Given the description of an element on the screen output the (x, y) to click on. 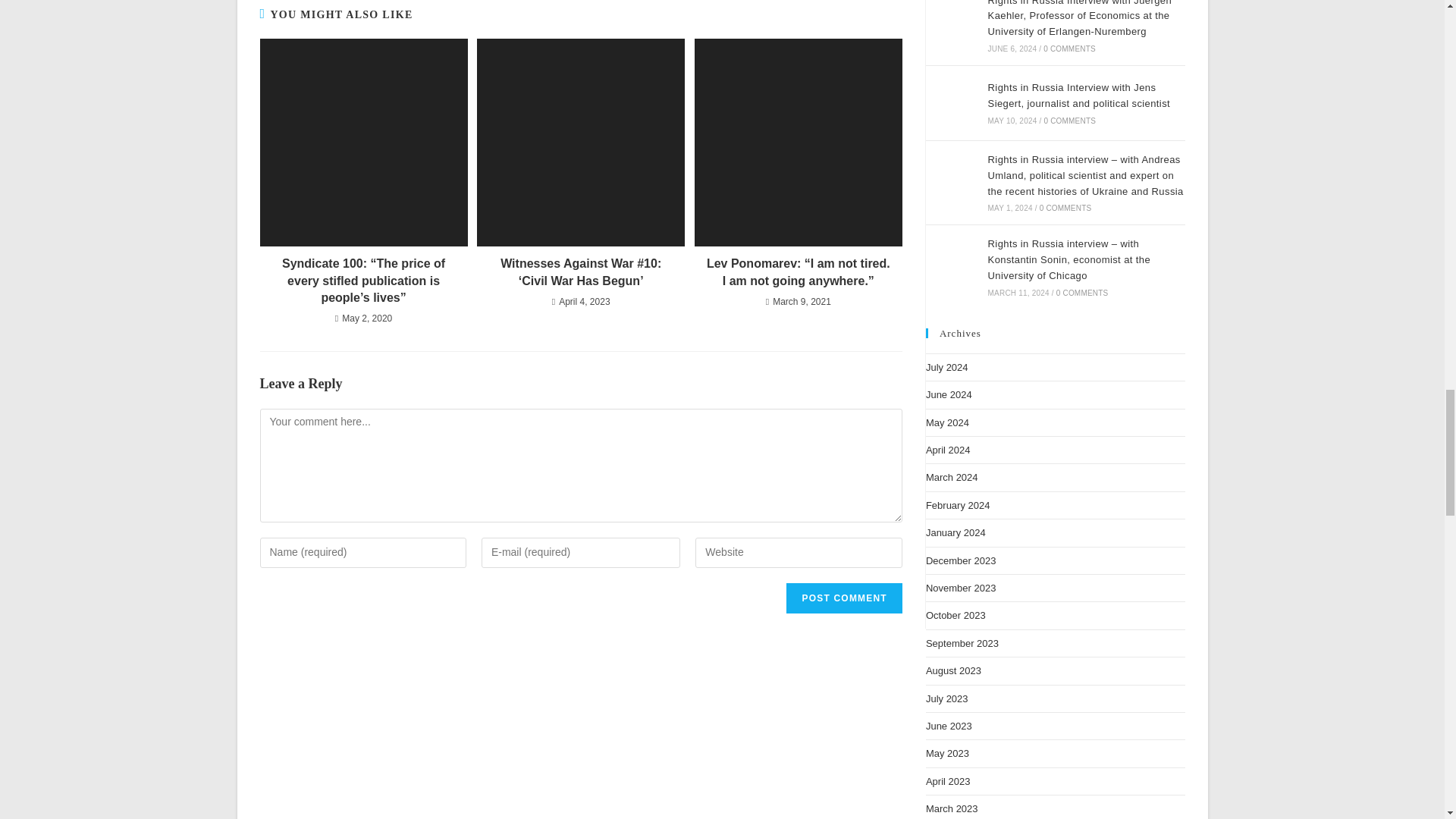
Post Comment (843, 598)
